Given the description of an element on the screen output the (x, y) to click on. 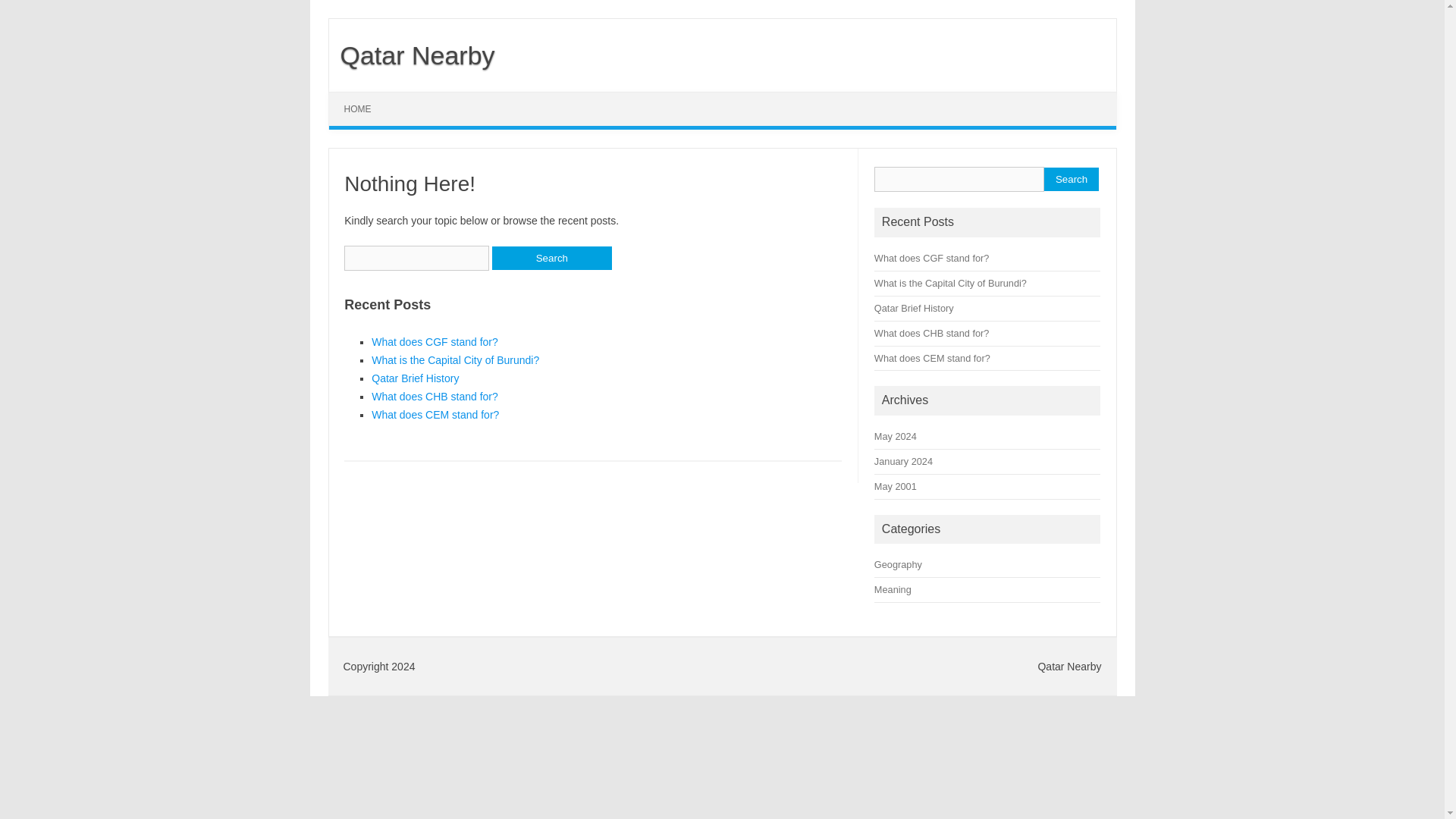
What is the Capital City of Burundi? (454, 359)
What does CHB stand for? (434, 396)
What does CGF stand for? (434, 341)
What is the Capital City of Burundi? (950, 283)
Skip to content (363, 96)
Search (1070, 178)
What does CGF stand for? (931, 257)
Meaning (893, 589)
What does CEM stand for? (932, 357)
Skip to content (363, 96)
Qatar Nearby (412, 54)
Qatar Brief History (914, 307)
May 2001 (896, 486)
Qatar Nearby (412, 54)
What does CHB stand for? (931, 333)
